Given the description of an element on the screen output the (x, y) to click on. 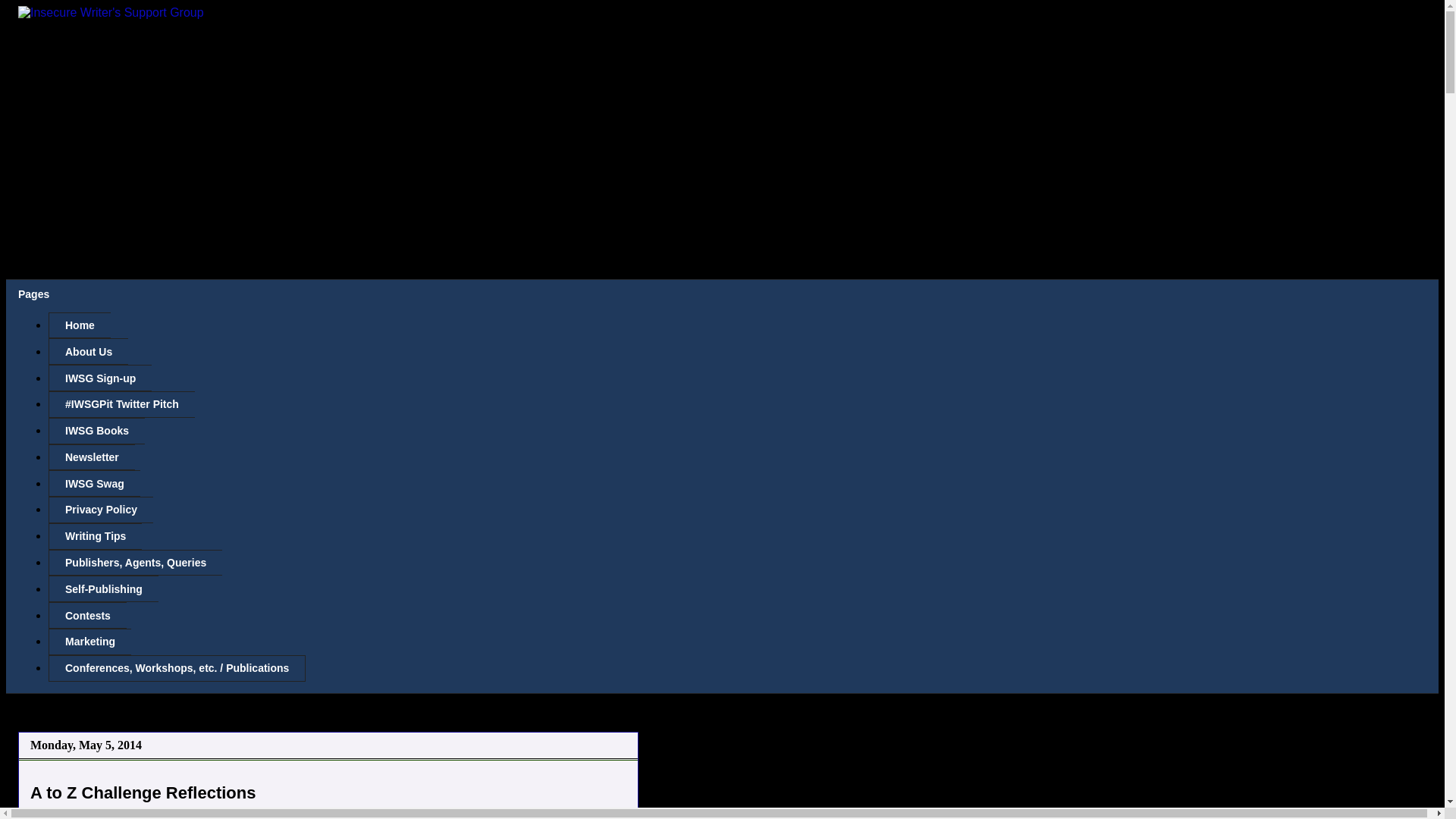
Home (79, 325)
Self-Publishing (103, 588)
IWSG Sign-up (99, 377)
About Us (88, 351)
Marketing (89, 641)
IWSG Swag (93, 483)
Publishers, Agents, Queries (135, 562)
IWSG Books (96, 430)
Newsletter (91, 457)
Writing Tips (94, 536)
Privacy Policy (100, 509)
Contests (87, 614)
